Given the description of an element on the screen output the (x, y) to click on. 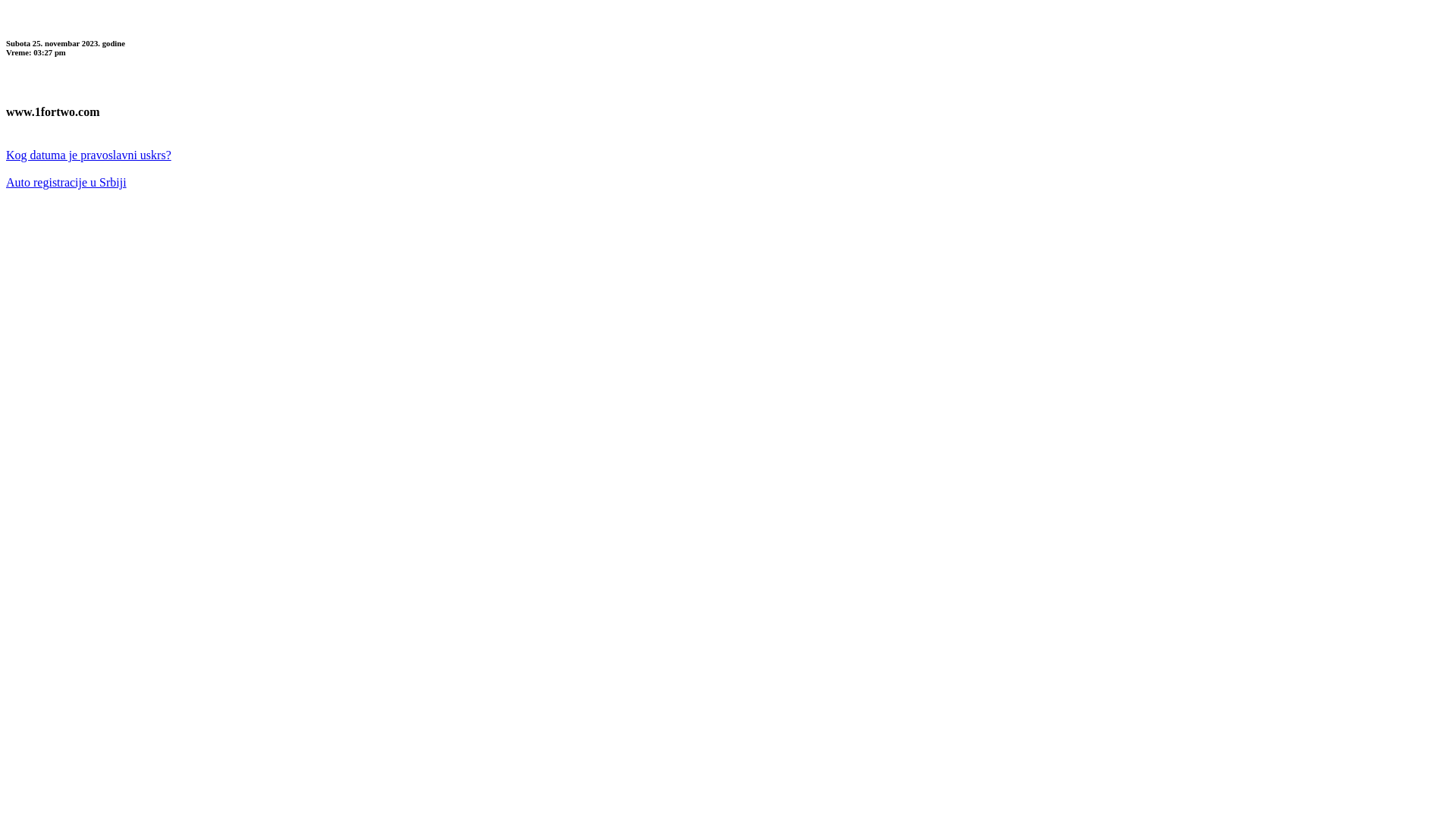
Auto registracije u Srbiji Element type: text (66, 181)
Kog datuma je pravoslavni uskrs? Element type: text (88, 154)
